Given the description of an element on the screen output the (x, y) to click on. 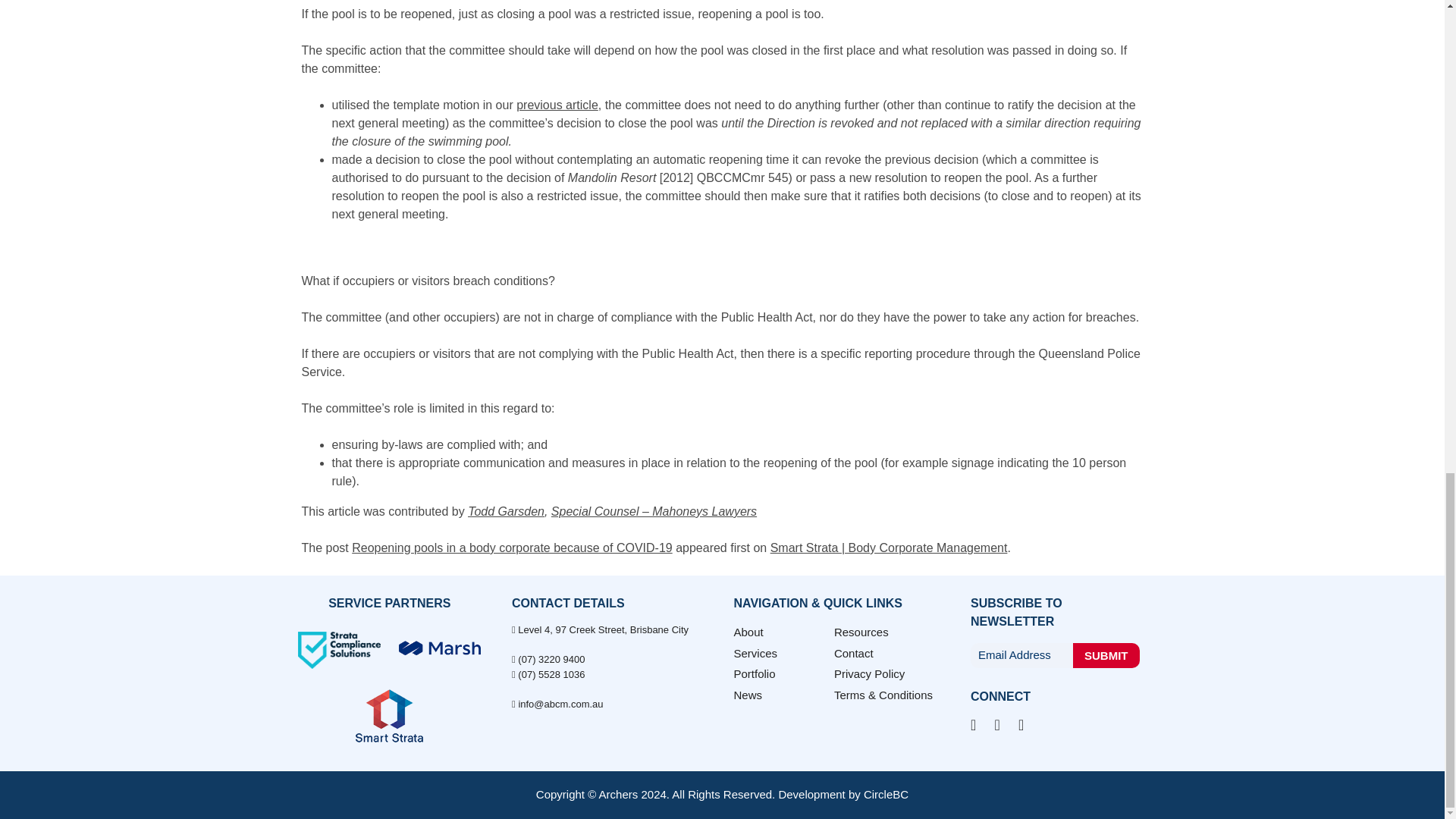
Resources (861, 631)
previous article (557, 104)
About (747, 631)
Todd Garsden (505, 511)
Reopening pools in a body corporate because of COVID-19 (511, 547)
News (747, 694)
Services (755, 653)
Portfolio (754, 673)
Submit (1106, 655)
Submit (1106, 655)
Privacy Policy (869, 673)
Contact (853, 653)
